Given the description of an element on the screen output the (x, y) to click on. 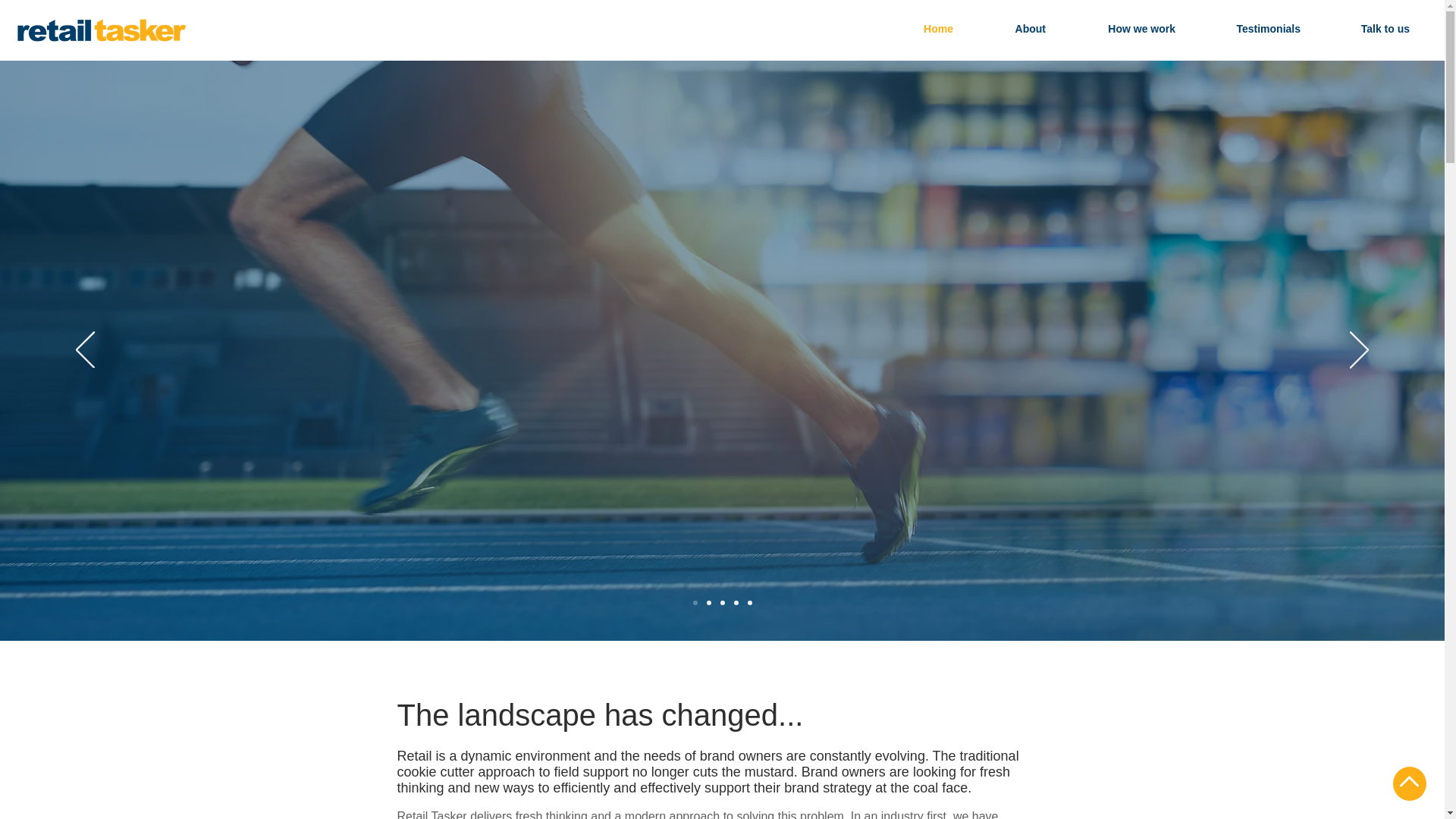
Home (917, 28)
About (1010, 28)
Testimonials (1248, 28)
How we work (1121, 28)
retail-tasker-horiz-logo.png (100, 30)
Talk to us (1366, 28)
